Given the description of an element on the screen output the (x, y) to click on. 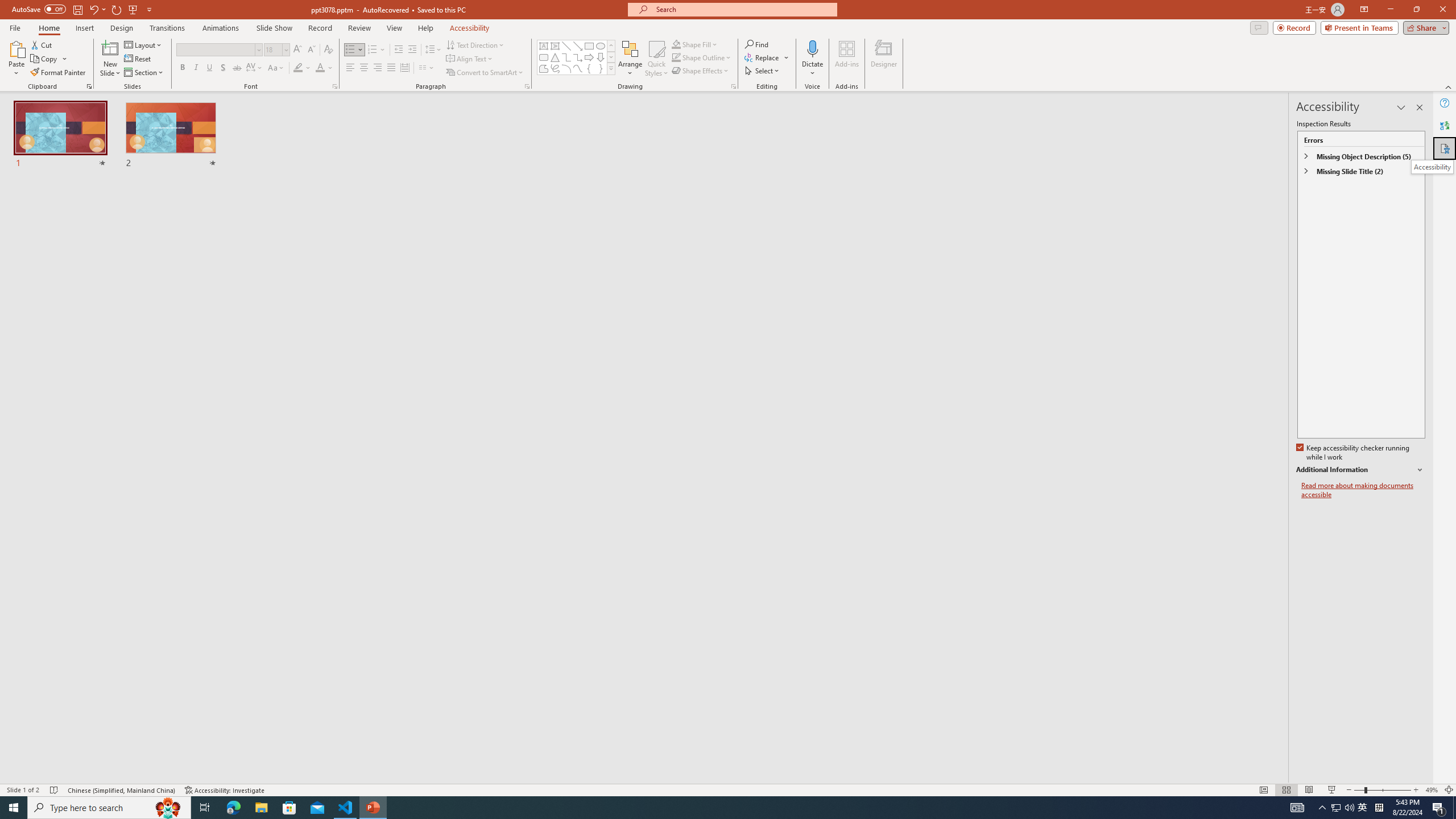
Shape Outline Green, Accent 1 (675, 56)
